Given the description of an element on the screen output the (x, y) to click on. 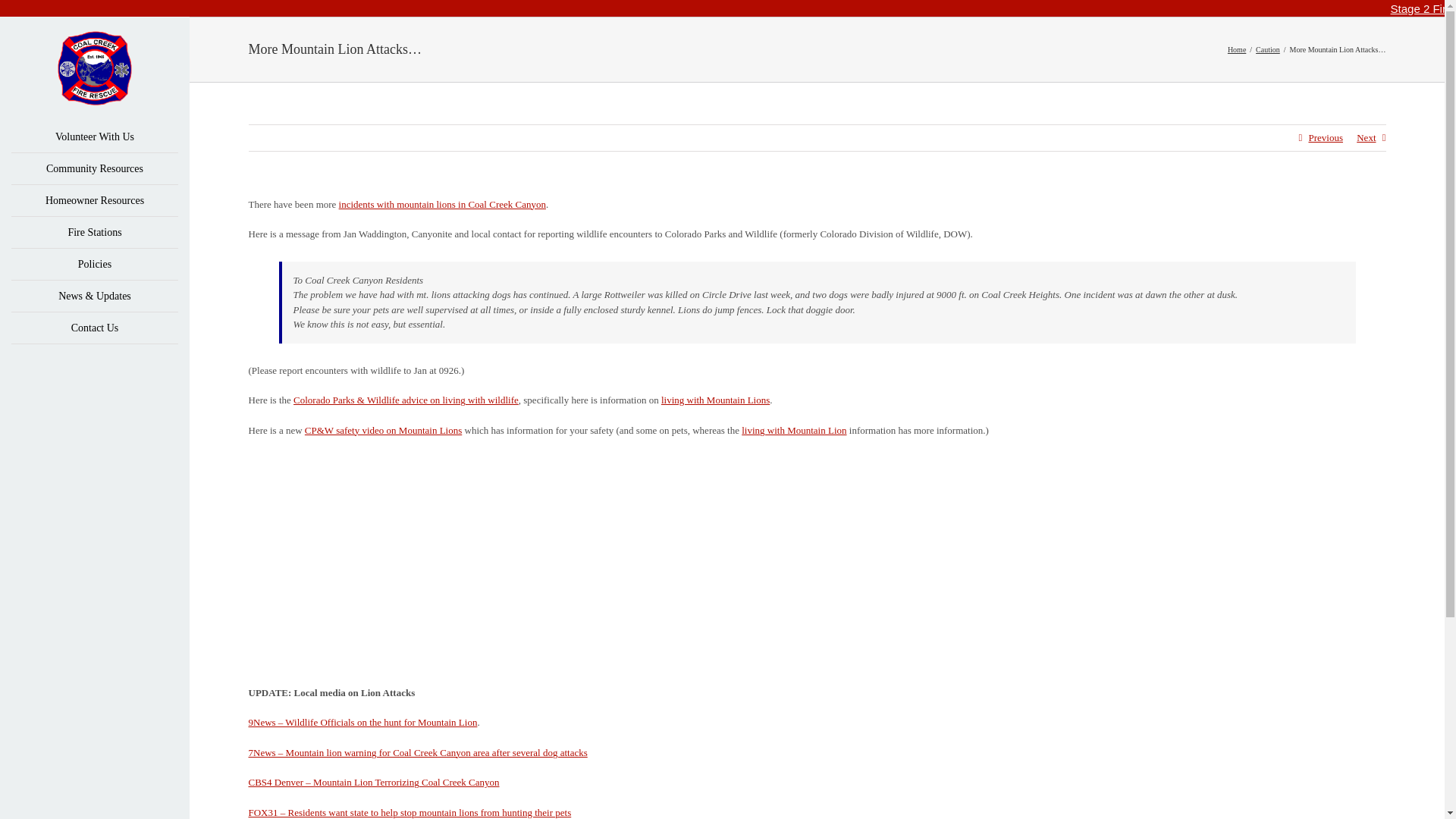
Living with Cougar in Colorado (793, 430)
Home (1236, 49)
living with Mountain Lions (715, 399)
Policies (94, 264)
Previous (1324, 137)
Living with Cougar in Colorado (715, 399)
Contact Us (94, 327)
Fire Stations (94, 232)
Volunteer With Us (94, 137)
Next (1365, 137)
living with Mountain Lion (793, 430)
Caution (1267, 49)
Community Resources (94, 169)
Mountain Lion Attacks in Coal Creek Canyon. (442, 204)
